Given the description of an element on the screen output the (x, y) to click on. 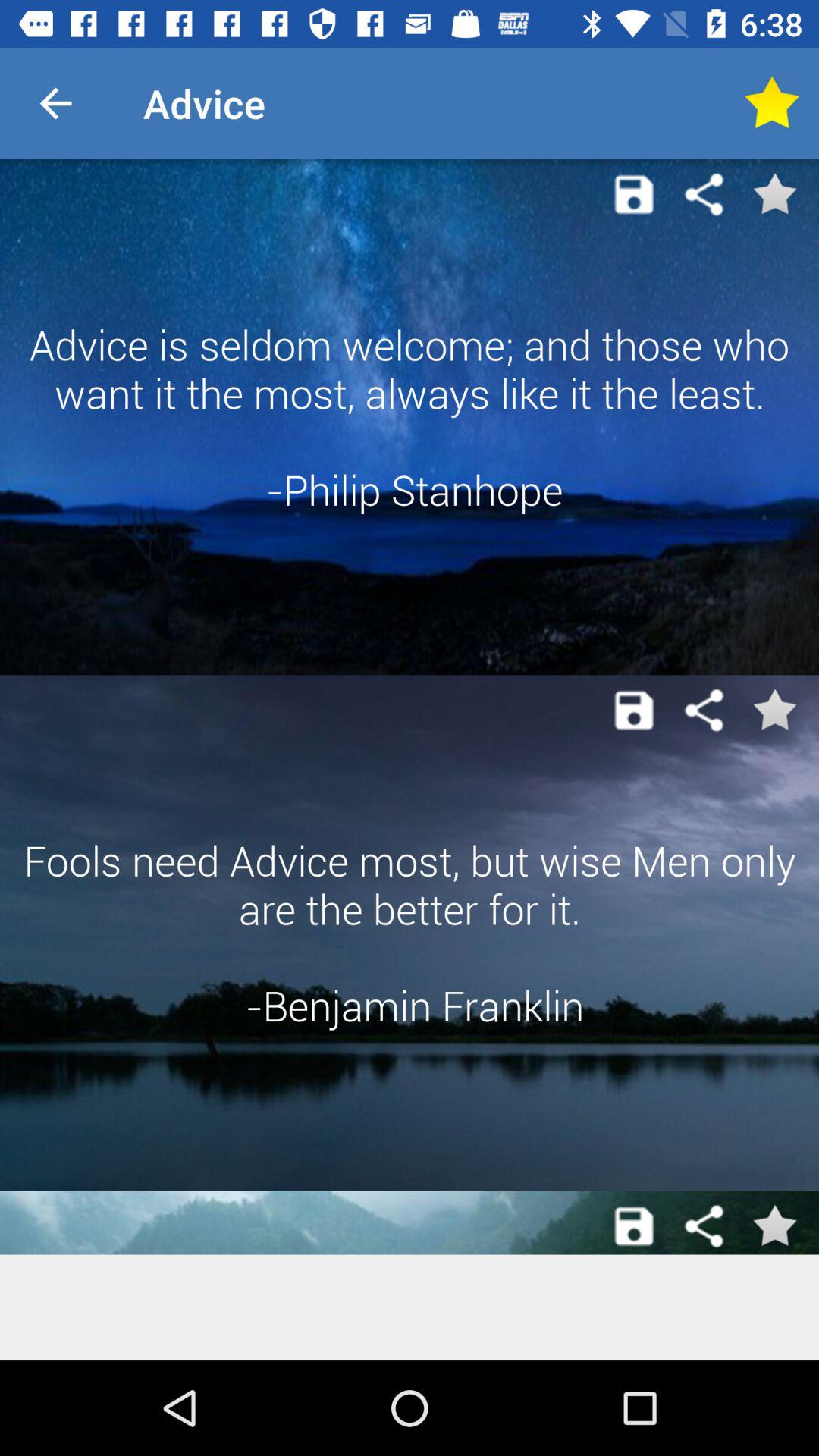
mark as favourite (771, 103)
